Given the description of an element on the screen output the (x, y) to click on. 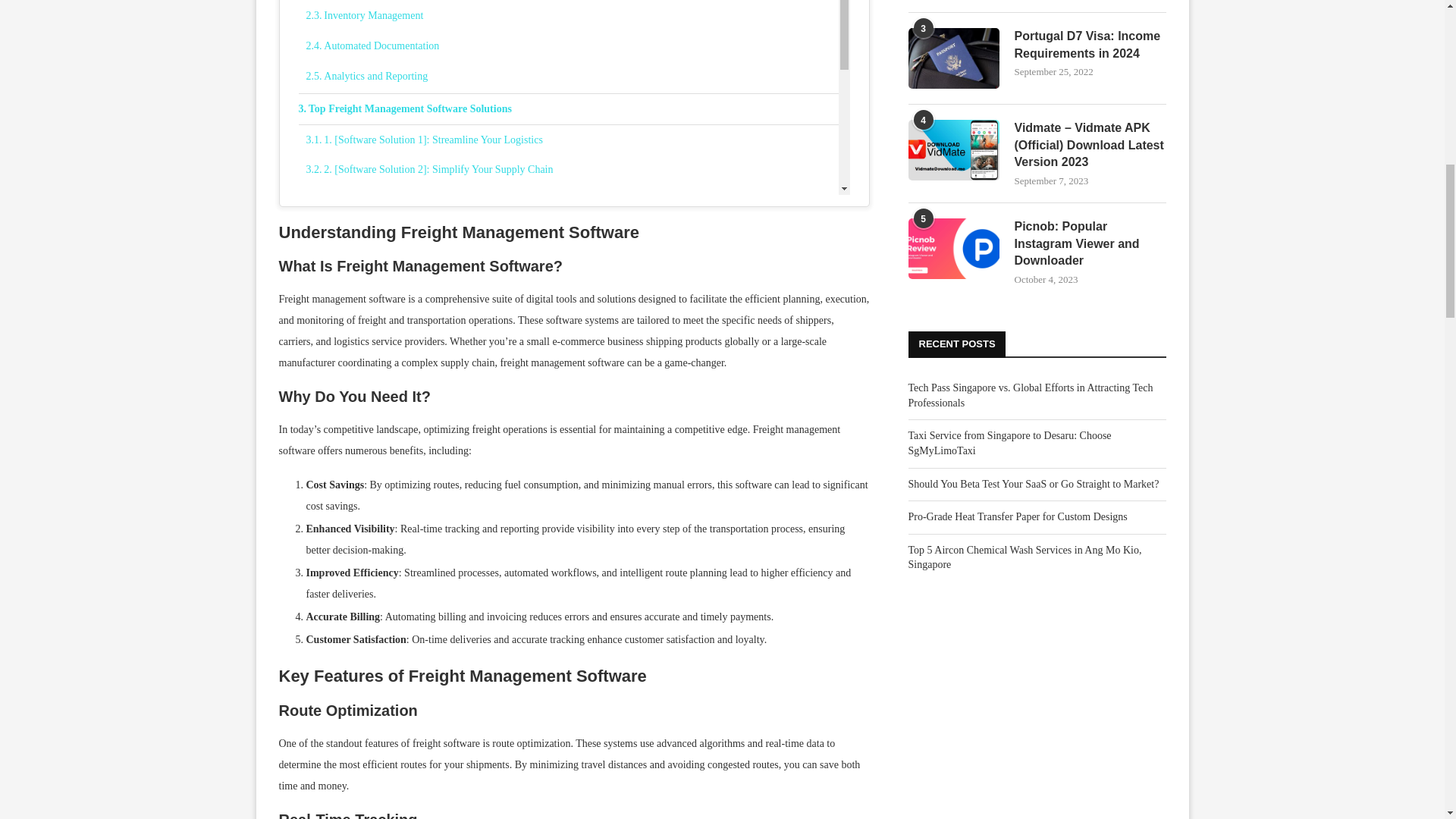
Making the Transition (572, 263)
Analytics and Reporting (572, 76)
Top Freight Management Software Solutions (569, 109)
Analytics and Reporting (572, 76)
Top Freight Management Software Solutions (569, 109)
Implementing Freight Management Software (569, 232)
Inventory Management (572, 15)
Customization for Your Needs (572, 294)
Automated Documentation (572, 46)
